Given the description of an element on the screen output the (x, y) to click on. 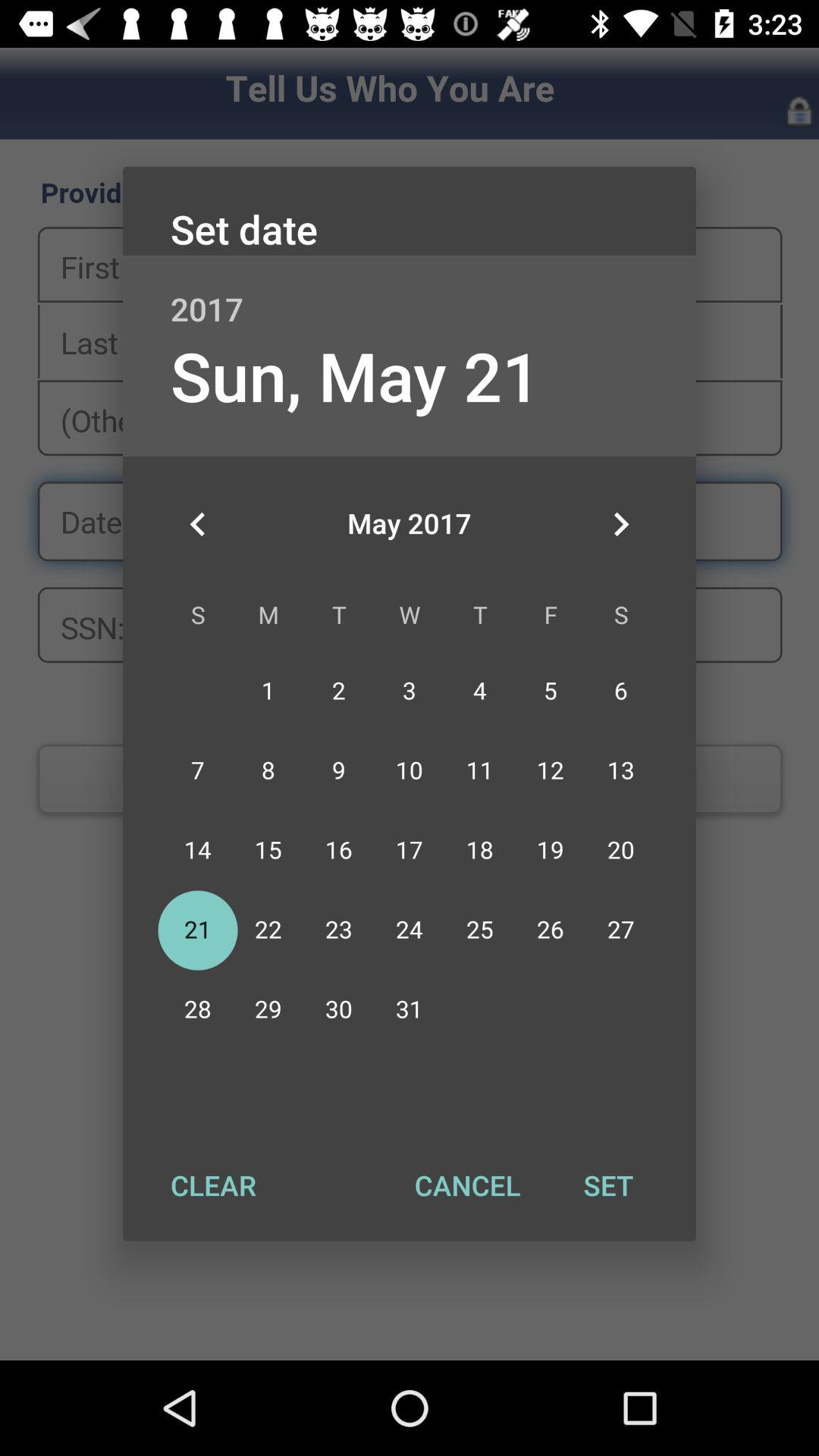
swipe until the cancel button (467, 1185)
